Given the description of an element on the screen output the (x, y) to click on. 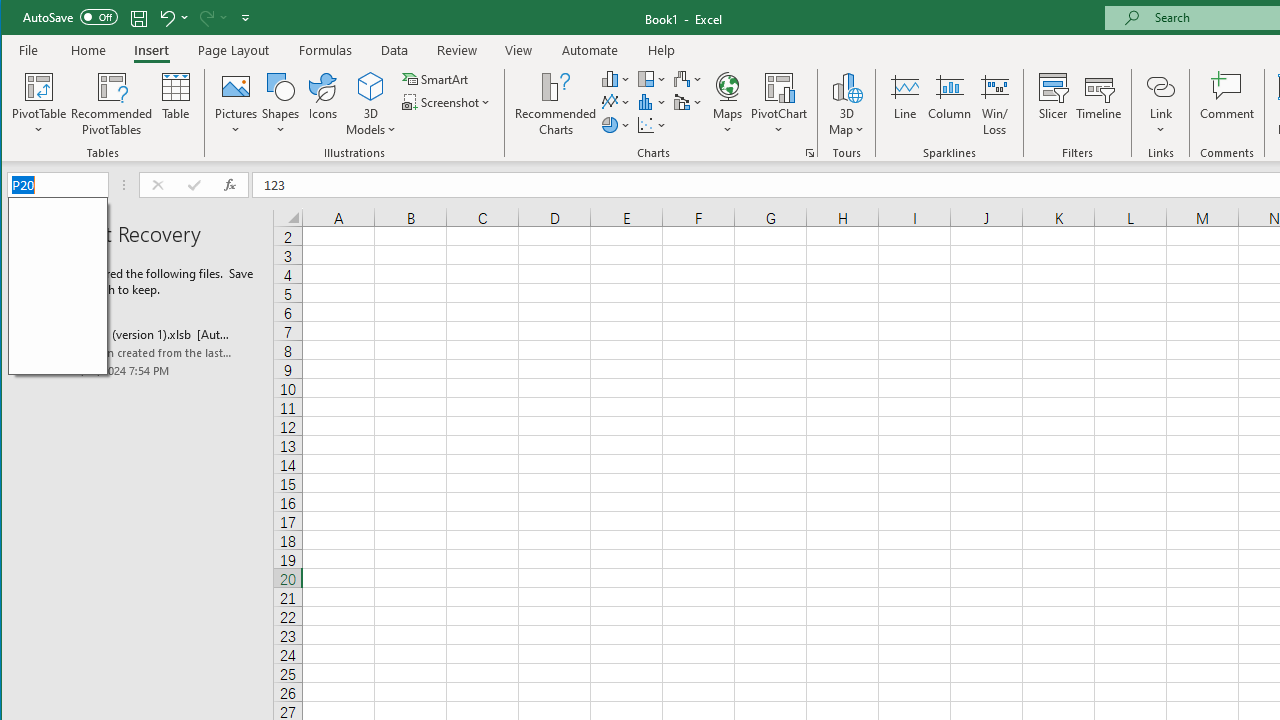
3D Map (846, 86)
3D Models (371, 104)
Insert Line or Area Chart (616, 101)
Insert Scatter (X, Y) or Bubble Chart (652, 124)
3D Map (846, 104)
